Given the description of an element on the screen output the (x, y) to click on. 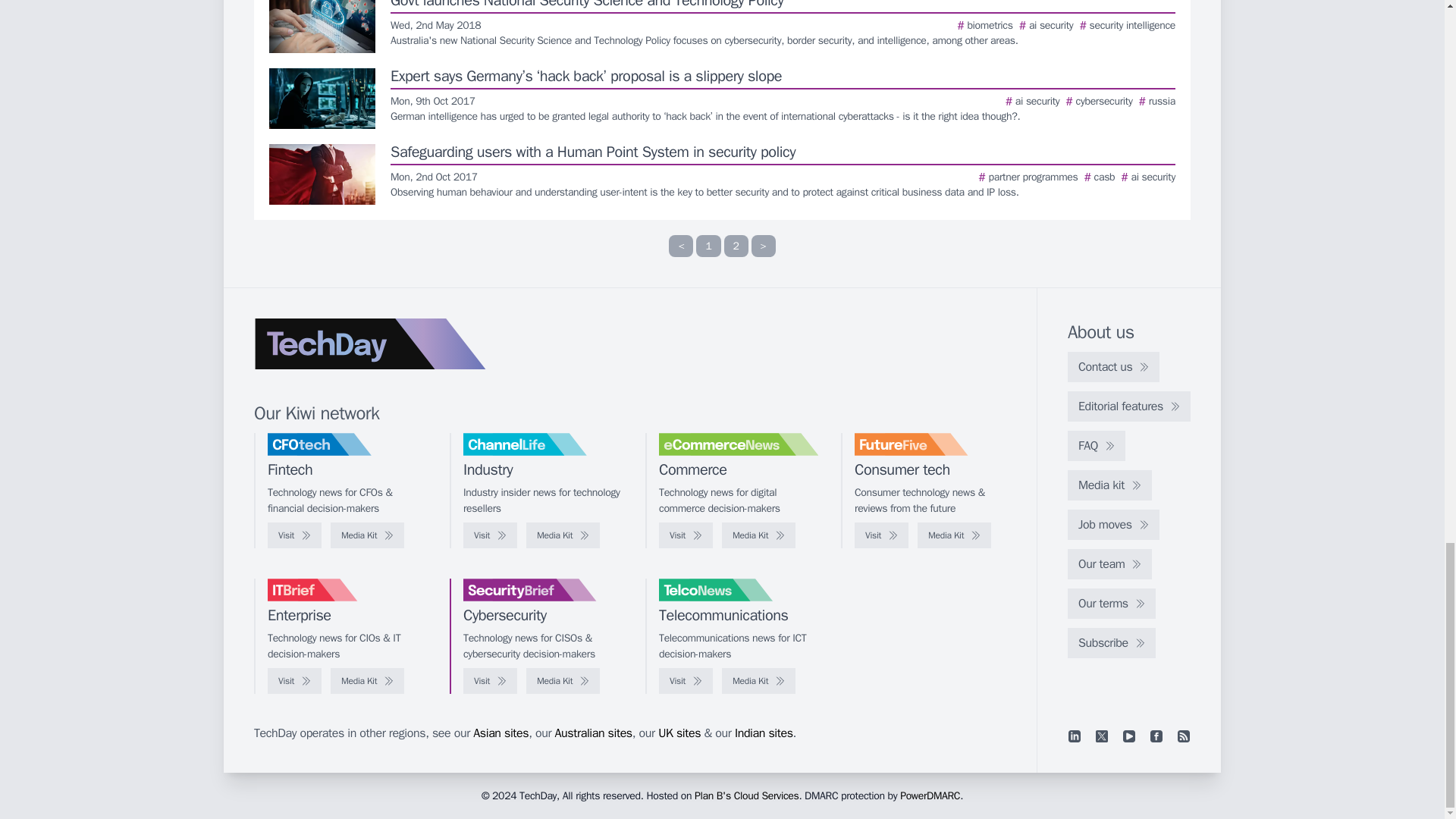
Visit (489, 534)
2 (735, 246)
1 (707, 246)
Media Kit (562, 534)
Visit (294, 534)
Media Kit (367, 534)
